Given the description of an element on the screen output the (x, y) to click on. 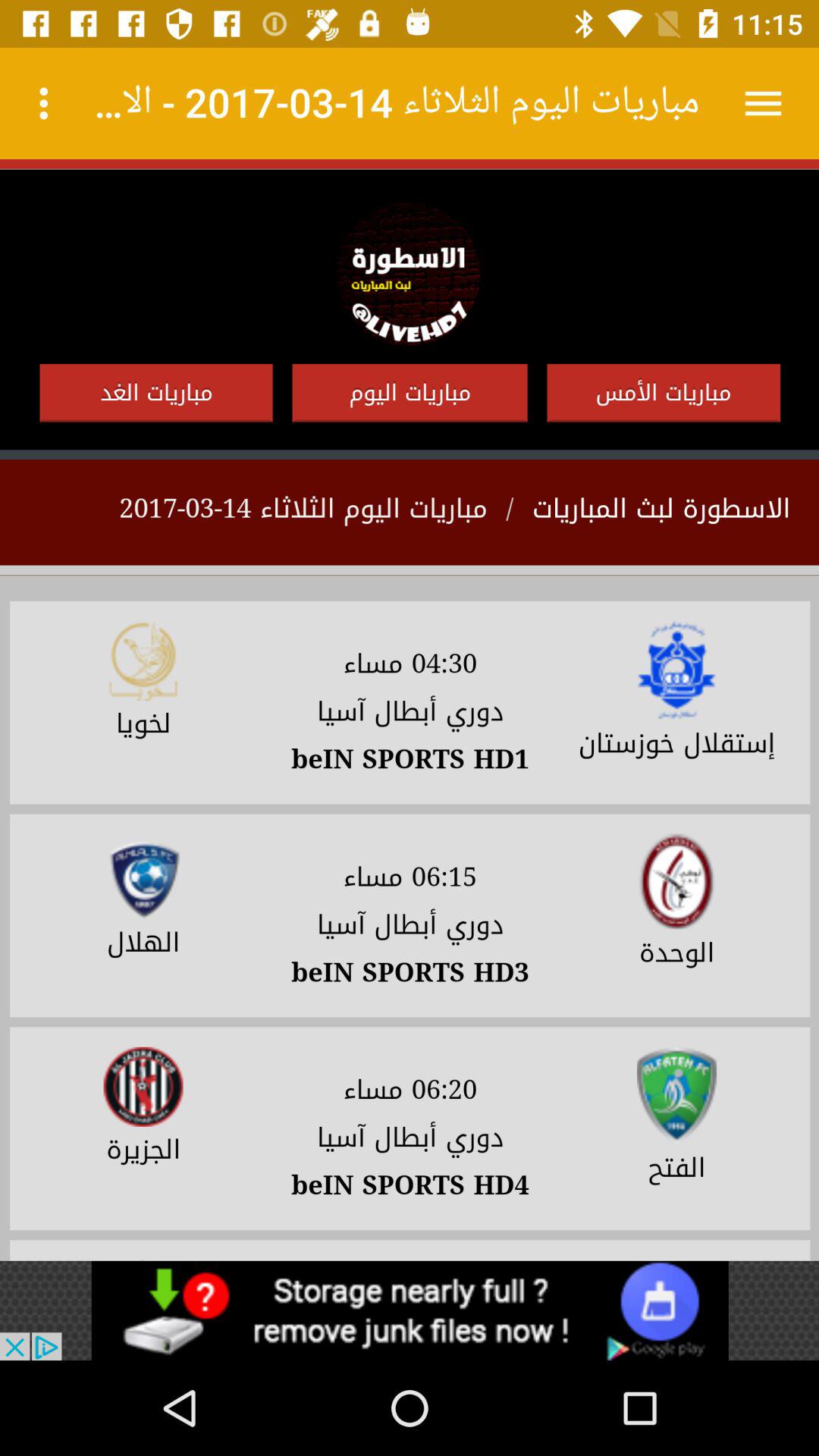
space where you access advertising (409, 1310)
